Given the description of an element on the screen output the (x, y) to click on. 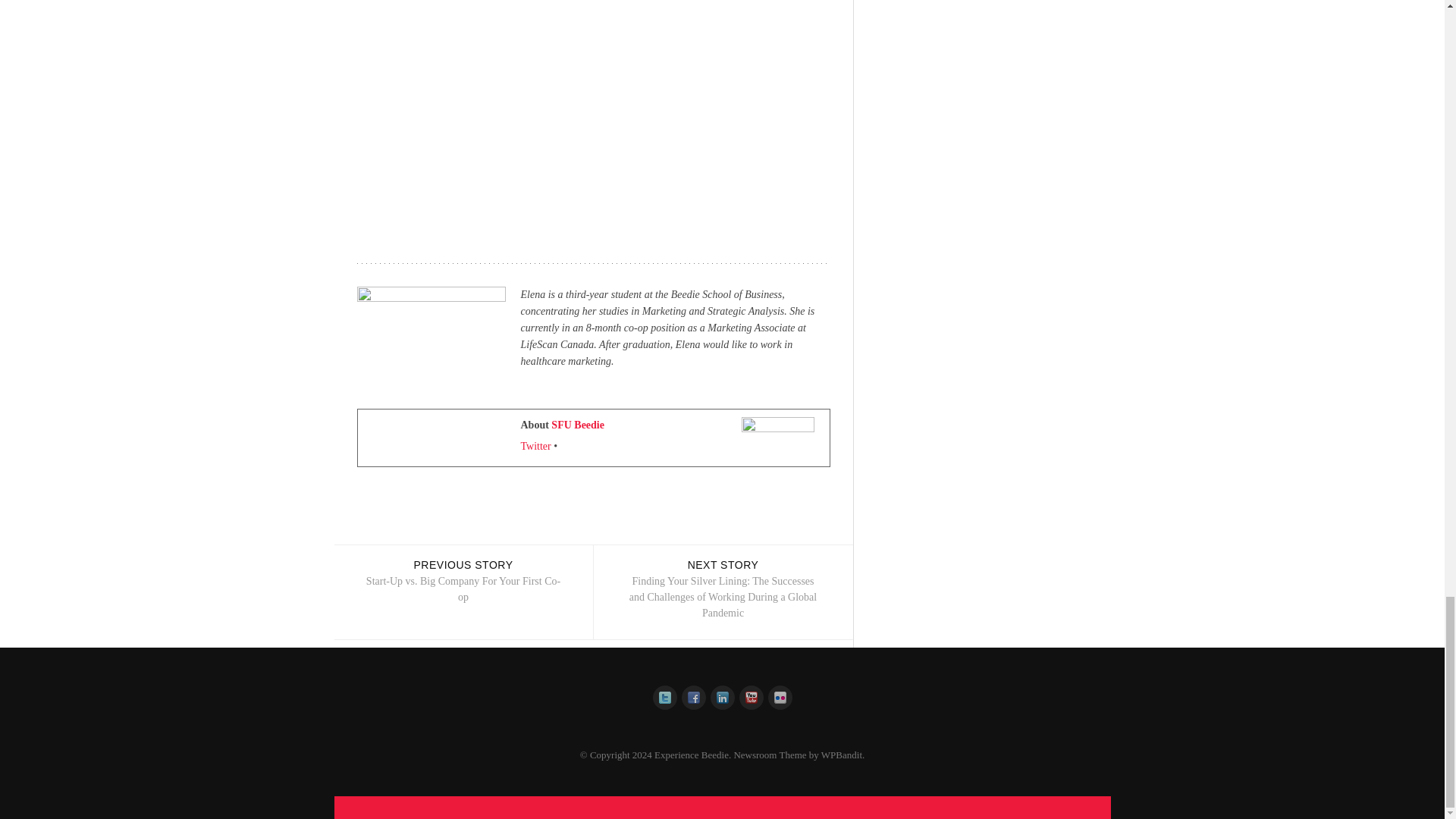
SFU Beedie (577, 424)
WPBandit (462, 592)
Twitter (841, 754)
